Given the description of an element on the screen output the (x, y) to click on. 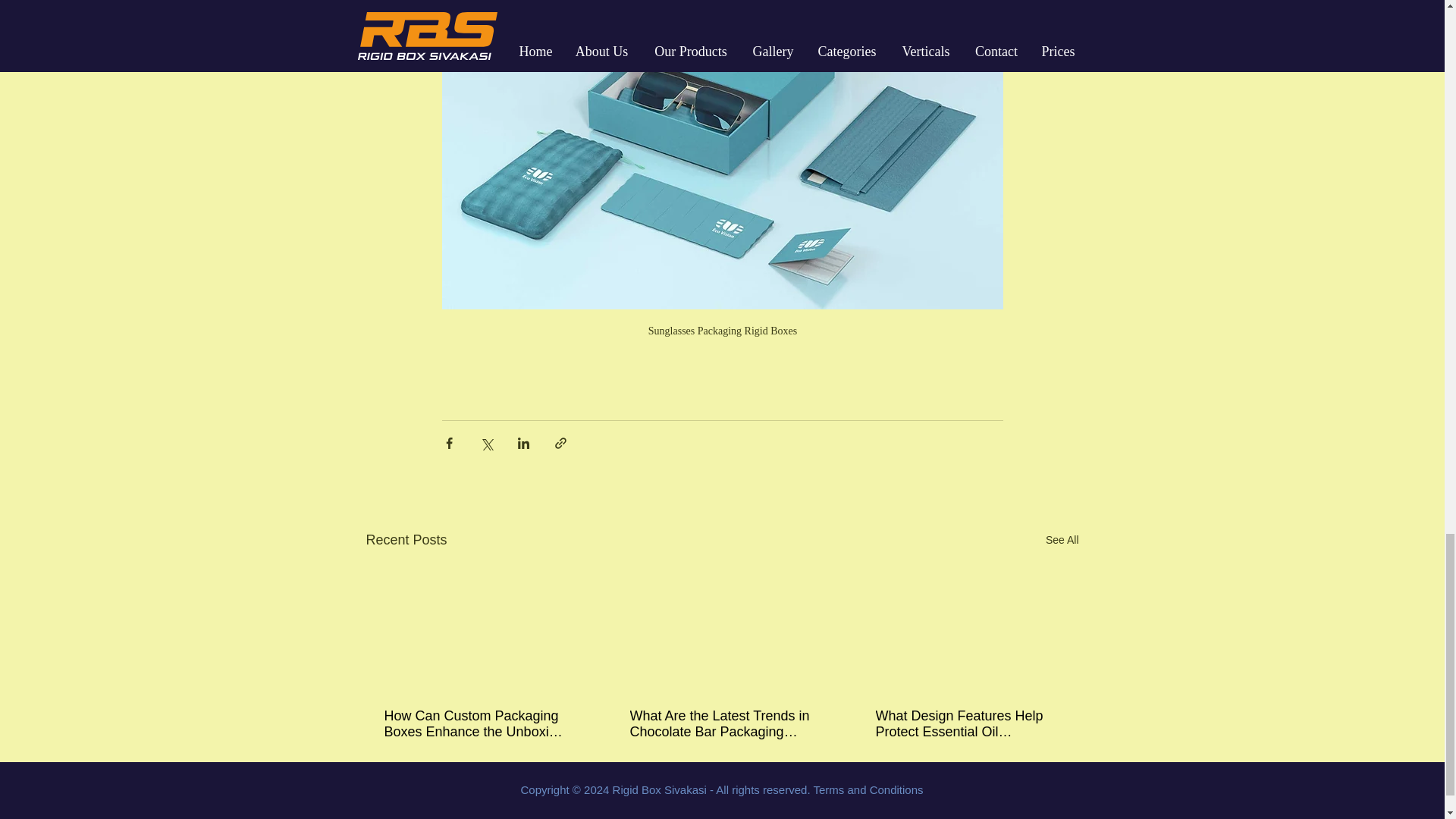
See All (1061, 540)
